Given the description of an element on the screen output the (x, y) to click on. 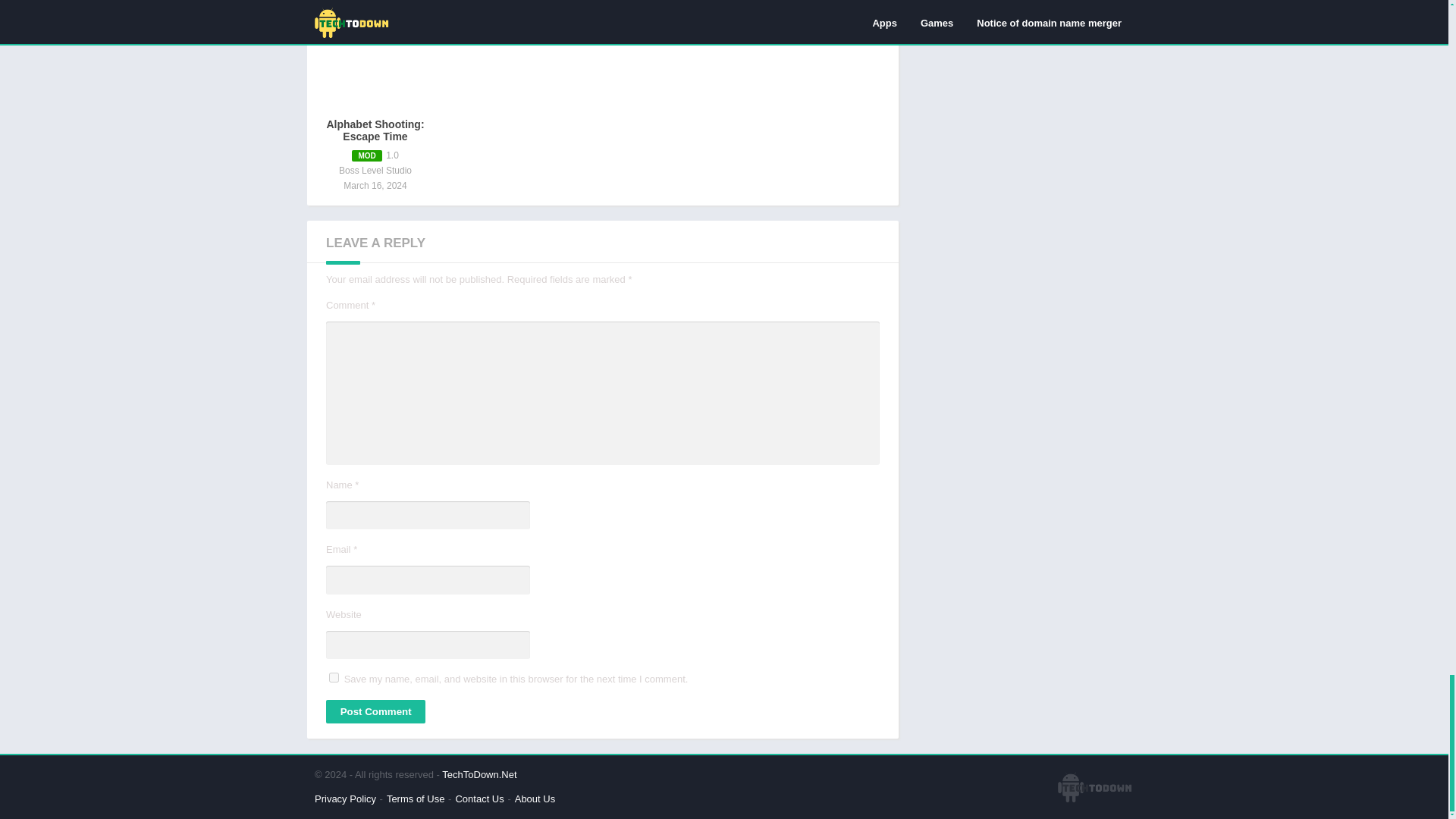
Post Comment (375, 711)
yes (334, 677)
